Given the description of an element on the screen output the (x, y) to click on. 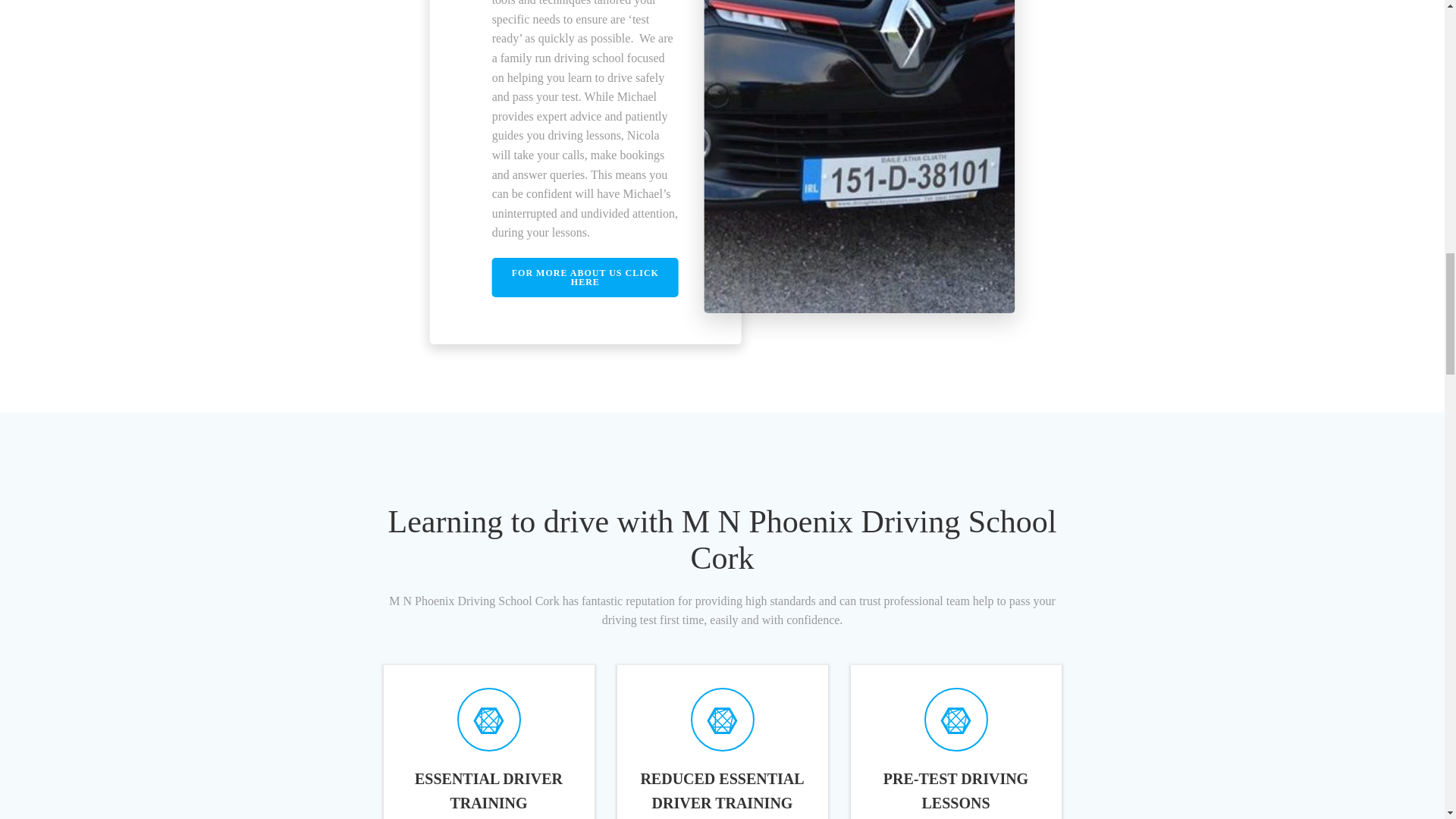
FOR MORE ABOUT US CLICK HERE (585, 277)
